Given the description of an element on the screen output the (x, y) to click on. 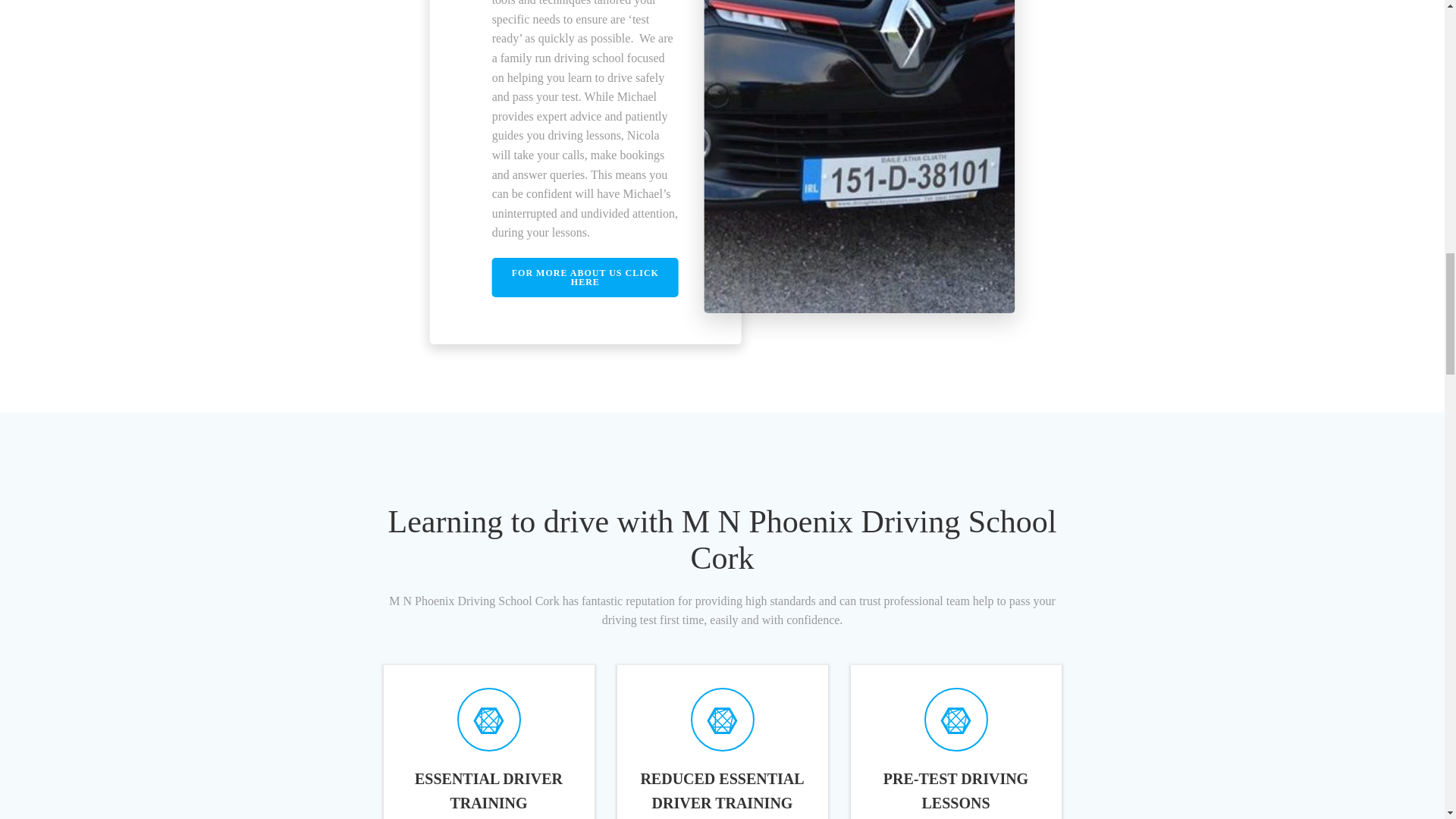
FOR MORE ABOUT US CLICK HERE (585, 277)
